Given the description of an element on the screen output the (x, y) to click on. 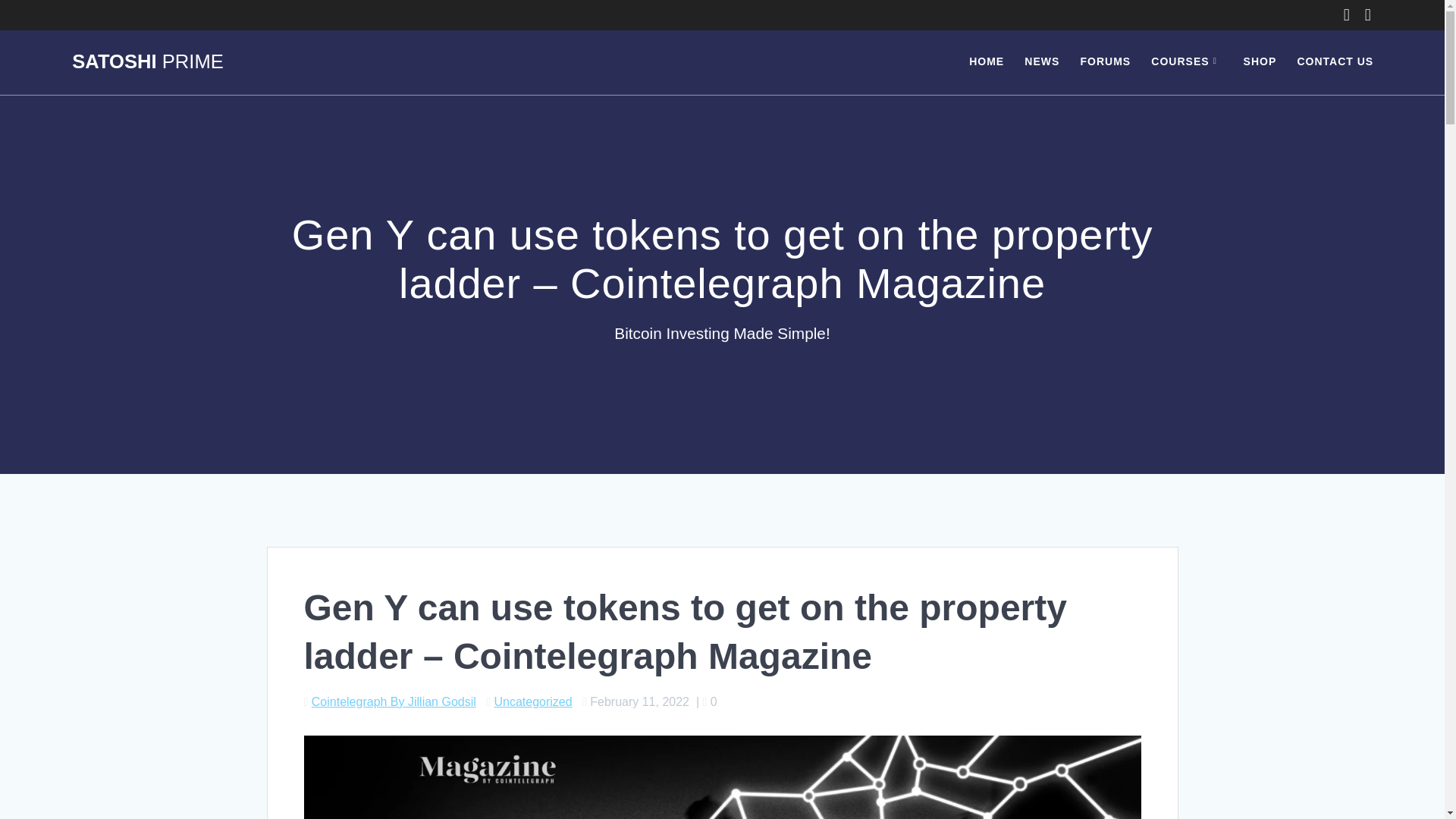
Cointelegraph By Jillian Godsil (393, 701)
Uncategorized (532, 701)
Posts by Cointelegraph By Jillian Godsil (393, 701)
FORUMS (1105, 62)
CONTACT US (1335, 62)
HOME (986, 62)
SHOP (1259, 62)
SATOSHI PRIME (147, 62)
NEWS (1042, 62)
COURSES (1187, 62)
